Given the description of an element on the screen output the (x, y) to click on. 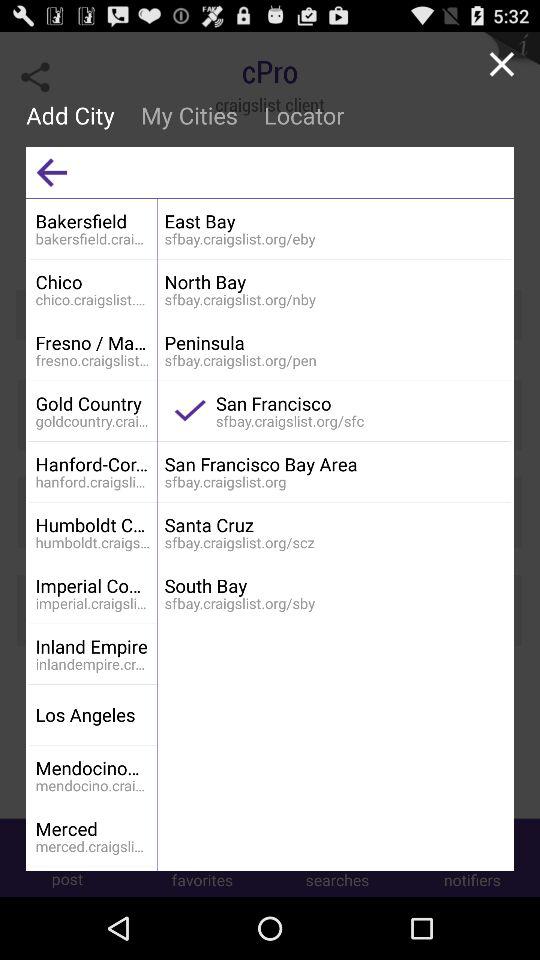
tap south bay icon (334, 585)
